Given the description of an element on the screen output the (x, y) to click on. 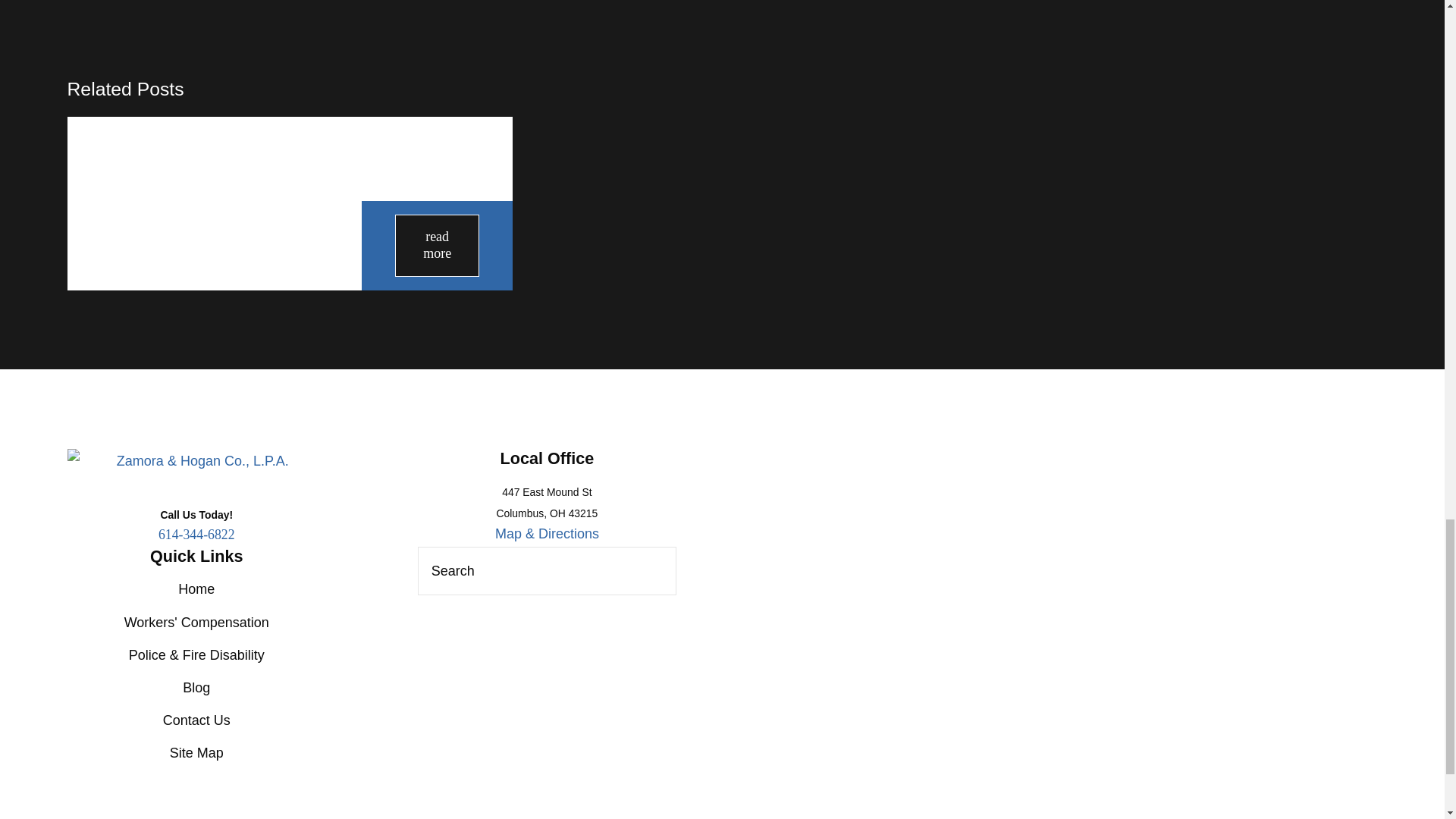
Home (196, 460)
Search Our Site (655, 571)
